Given the description of an element on the screen output the (x, y) to click on. 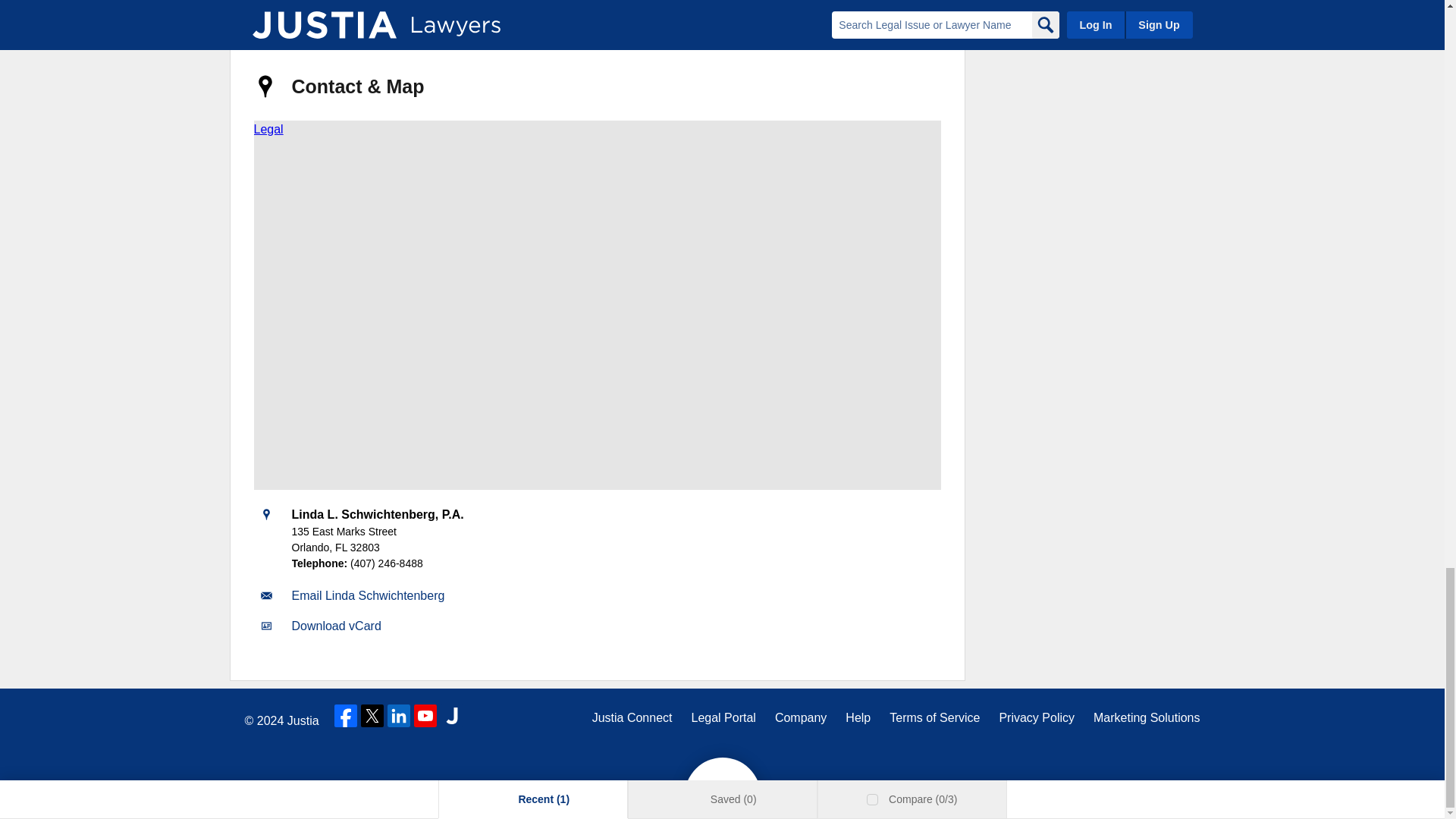
Facebook (275, 10)
Justia Profile (328, 10)
 Justia Profile (328, 10)
Linda Schwichtenberg on Facebook (275, 10)
